Given the description of an element on the screen output the (x, y) to click on. 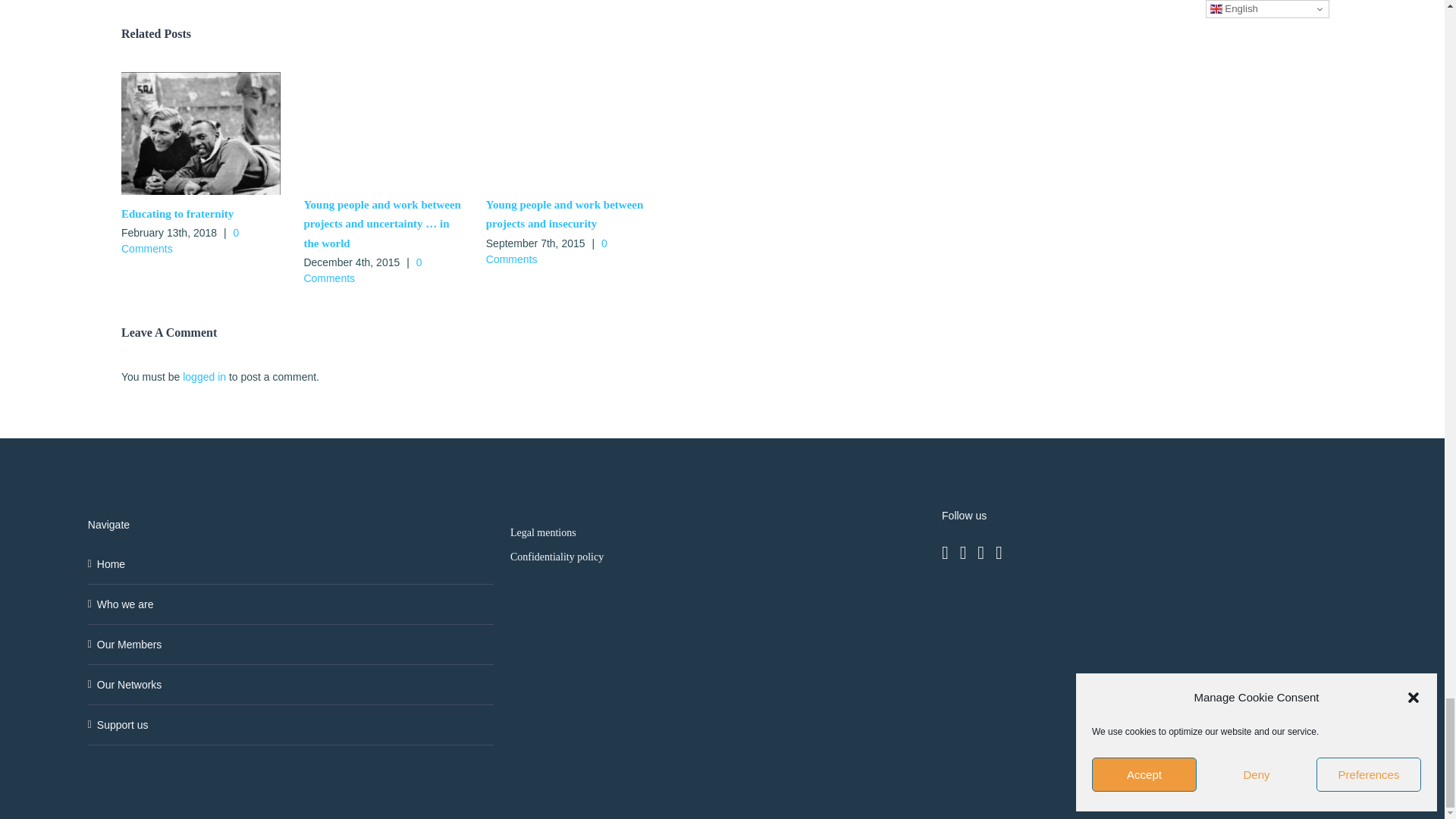
Educating to fraternity (176, 214)
Young people and work between projects and insecurity (564, 214)
